Given the description of an element on the screen output the (x, y) to click on. 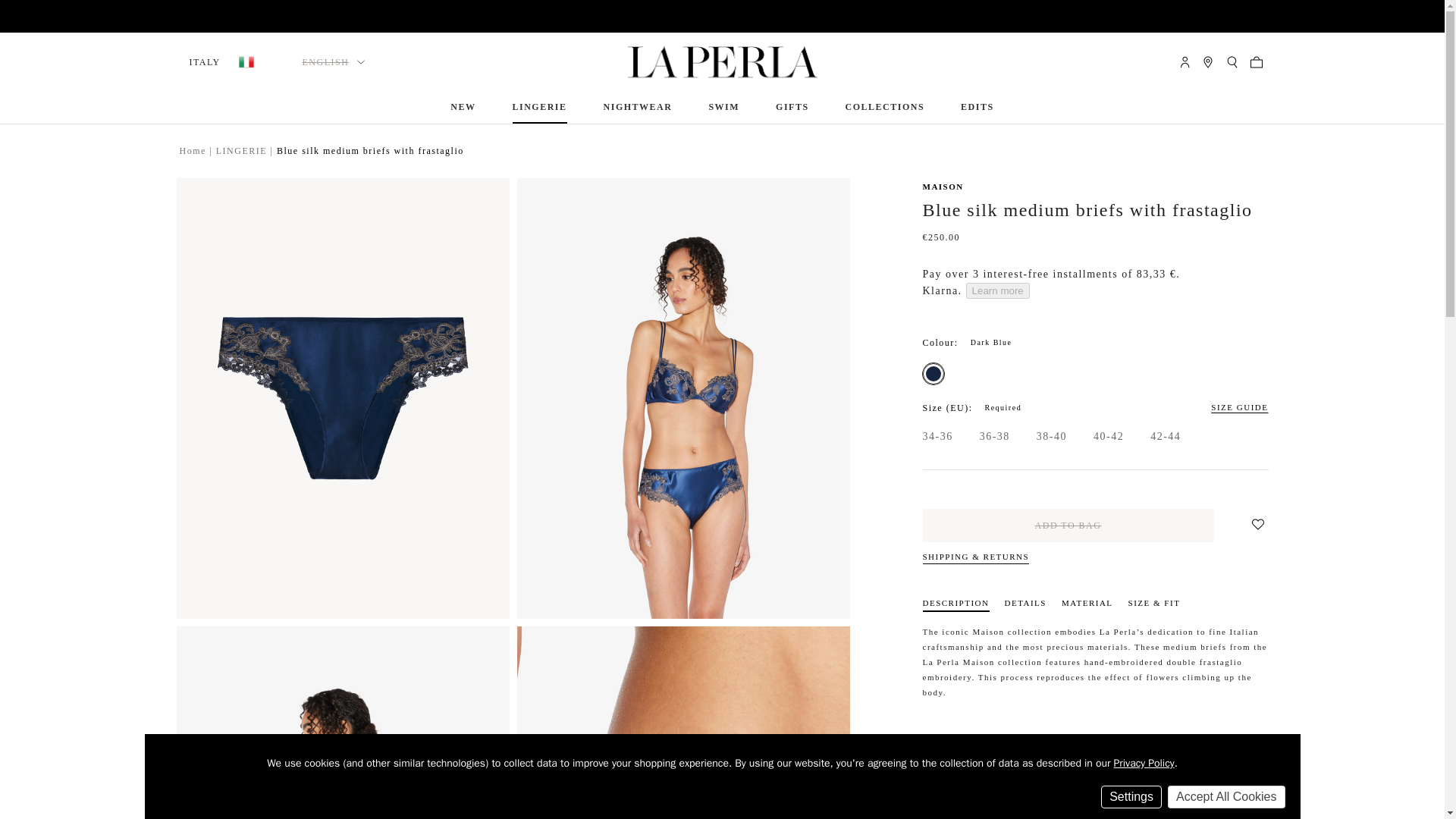
Add to Bag (1066, 525)
13078 (1125, 436)
13077 (1069, 436)
13075 (936, 373)
13076 (1012, 436)
ENGLISH (334, 61)
Dark Blue (932, 373)
13079 (1182, 436)
common.store-finder (1206, 61)
Sign in (1182, 61)
Search (1231, 61)
Shopping Bag (1258, 61)
LINGERIE (539, 106)
13074 (955, 436)
